Given the description of an element on the screen output the (x, y) to click on. 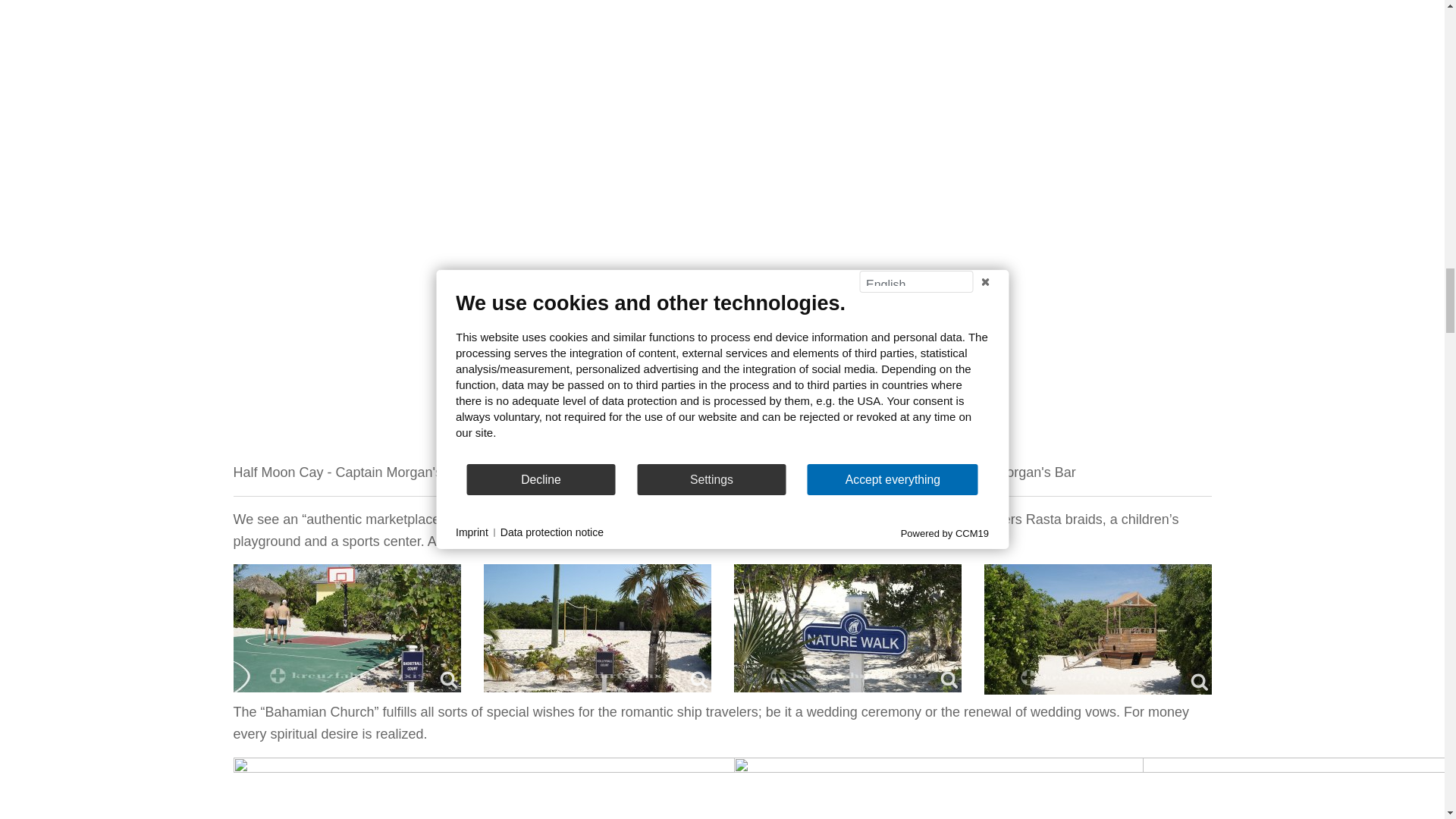
Half Moon Cay - Basketball field (346, 628)
